Given the description of an element on the screen output the (x, y) to click on. 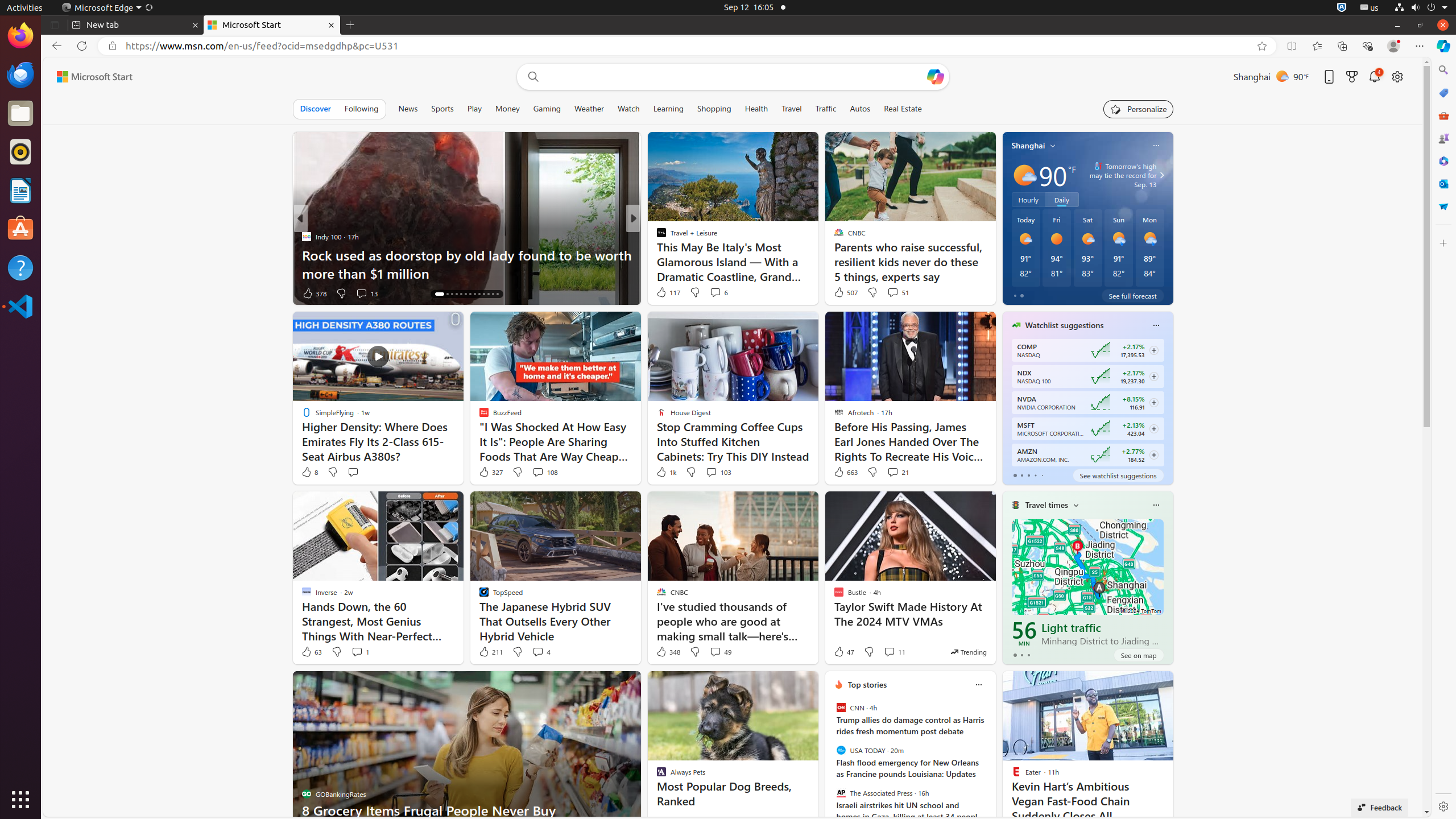
2025 Audi Q5 Is the Same but Better… And More Stylish Element type: link (816, 263)
Add this page to favorites (Ctrl+D) Element type: push-button (1261, 46)
Watchlist suggestions Element type: link (1063, 325)
Browser essentials Element type: push-button (1366, 45)
Weather forecast Fri High temperature 94° Low temperature 81° Element type: link (1056, 247)
